Given the description of an element on the screen output the (x, y) to click on. 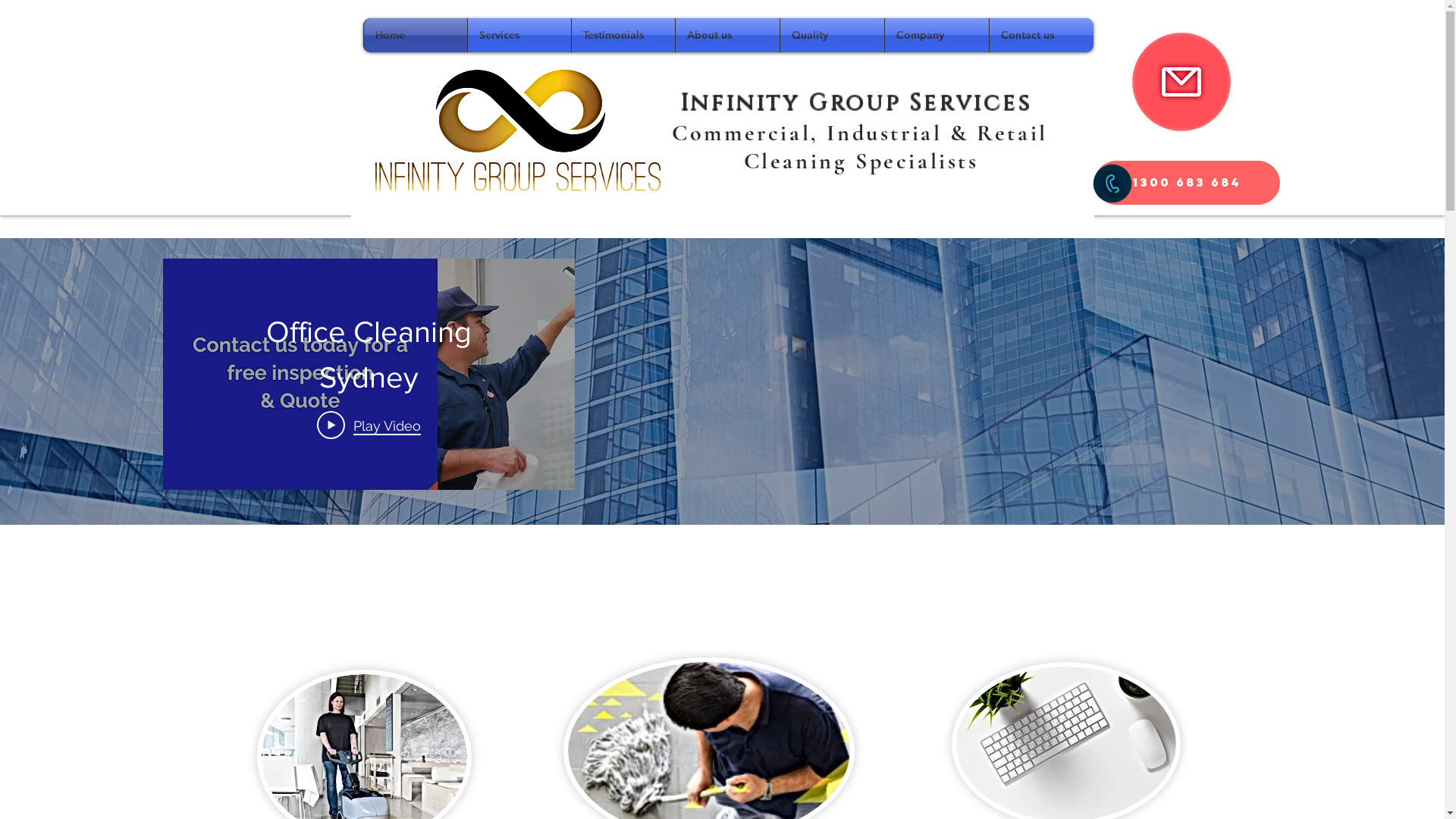
Services Element type: text (518, 35)
Home Element type: text (415, 35)
Testimonials Element type: text (622, 35)
Company Element type: text (936, 35)
1300 683 684 Element type: text (1186, 182)
Contact us Element type: text (1040, 35)
Click Element type: hover (1180, 81)
About us Element type: text (726, 35)
Quality Element type: text (831, 35)
